Given the description of an element on the screen output the (x, y) to click on. 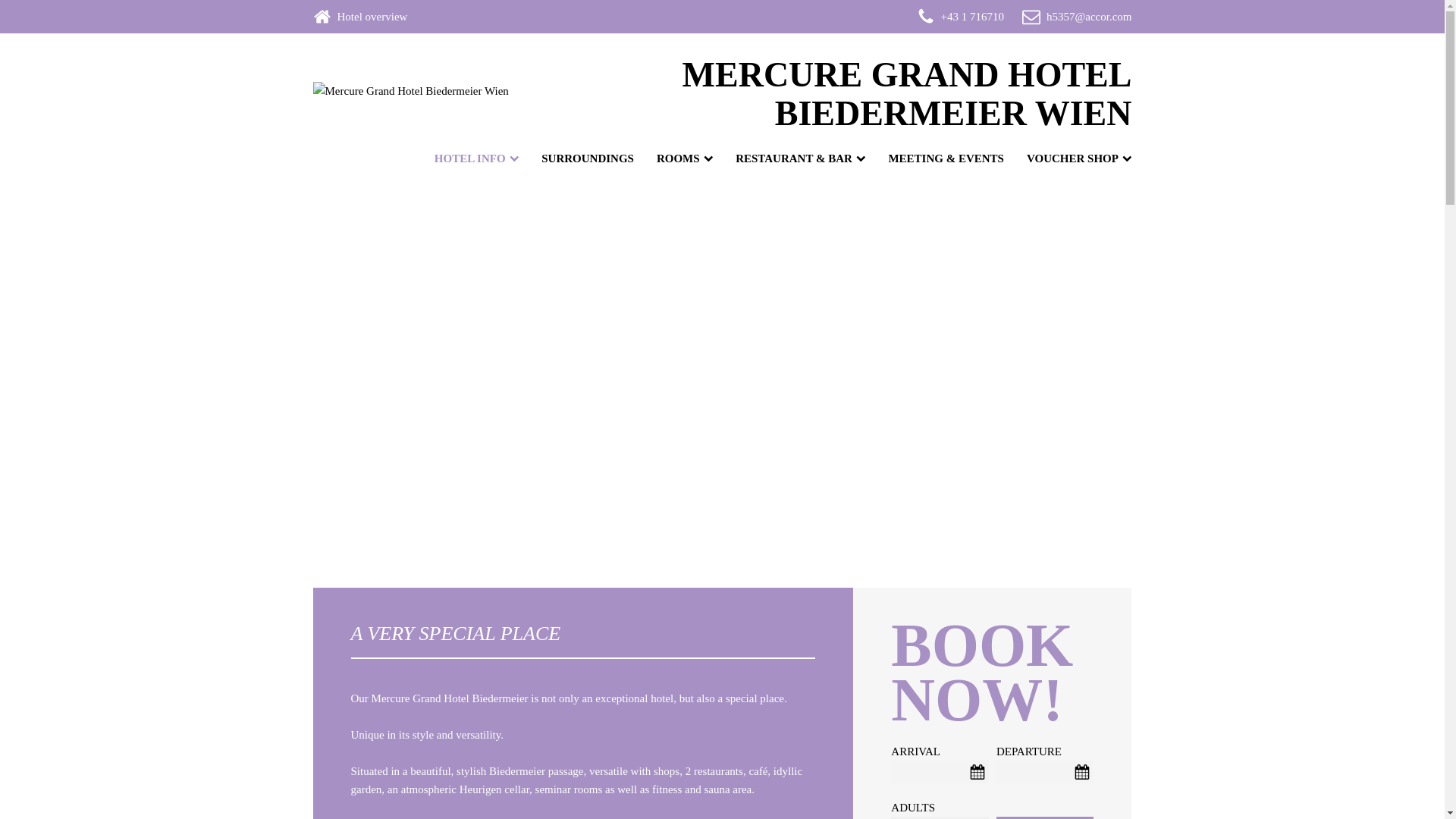
HOTEL INFO (472, 158)
VOUCHER SHOP (1075, 158)
SURROUNDINGS (583, 158)
BOOK (1044, 817)
ROOMS (681, 158)
Hotel overview (371, 16)
